Given the description of an element on the screen output the (x, y) to click on. 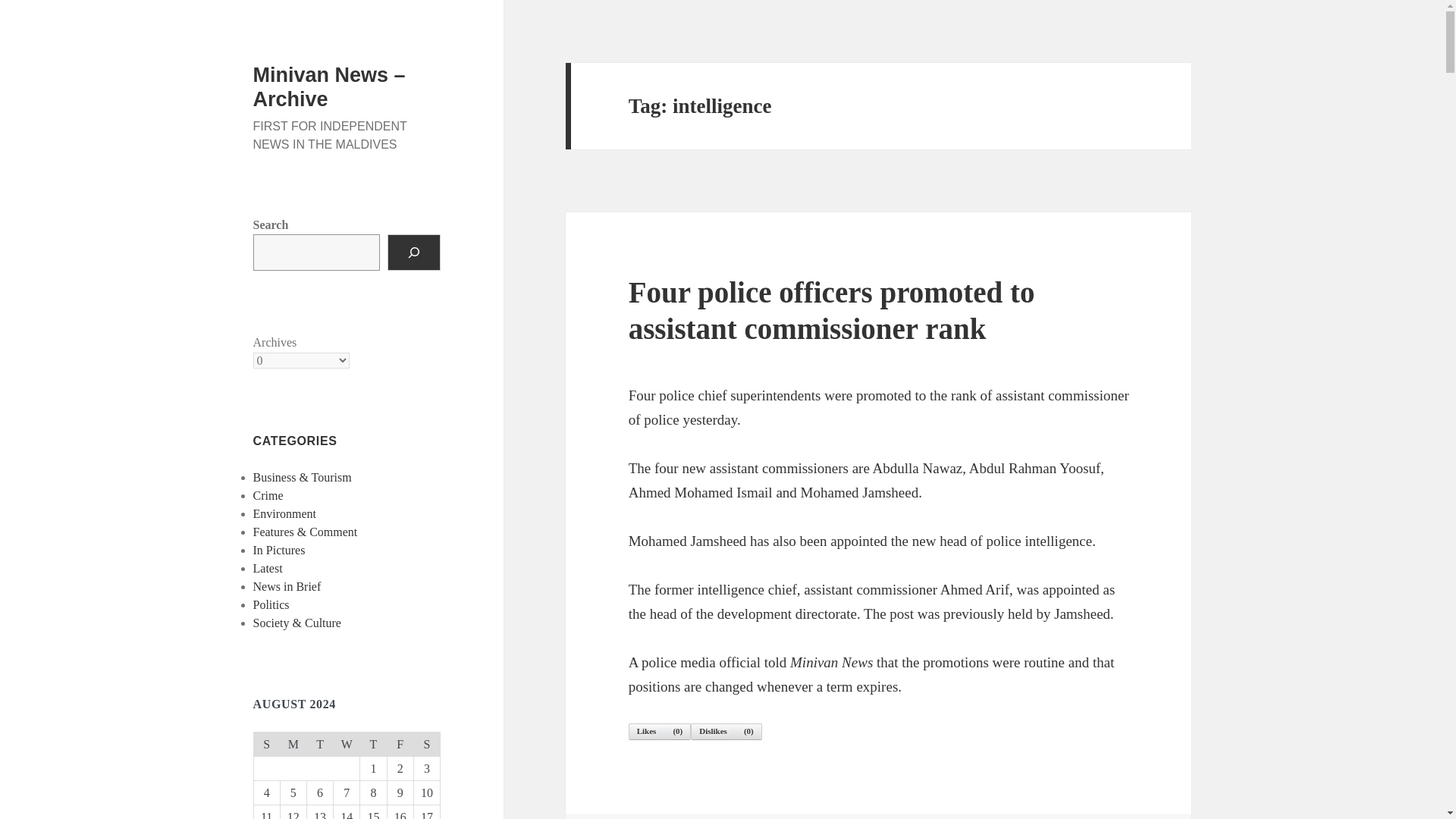
Four police officers promoted to assistant commissioner rank (831, 310)
Monday (292, 743)
Environment (285, 513)
Crime (268, 495)
Tuesday (319, 743)
Friday (400, 743)
Wednesday (346, 743)
Thursday (373, 743)
Sunday (266, 743)
News in Brief (287, 585)
Saturday (426, 743)
Politics (271, 604)
Latest (267, 567)
In Pictures (279, 549)
